Given the description of an element on the screen output the (x, y) to click on. 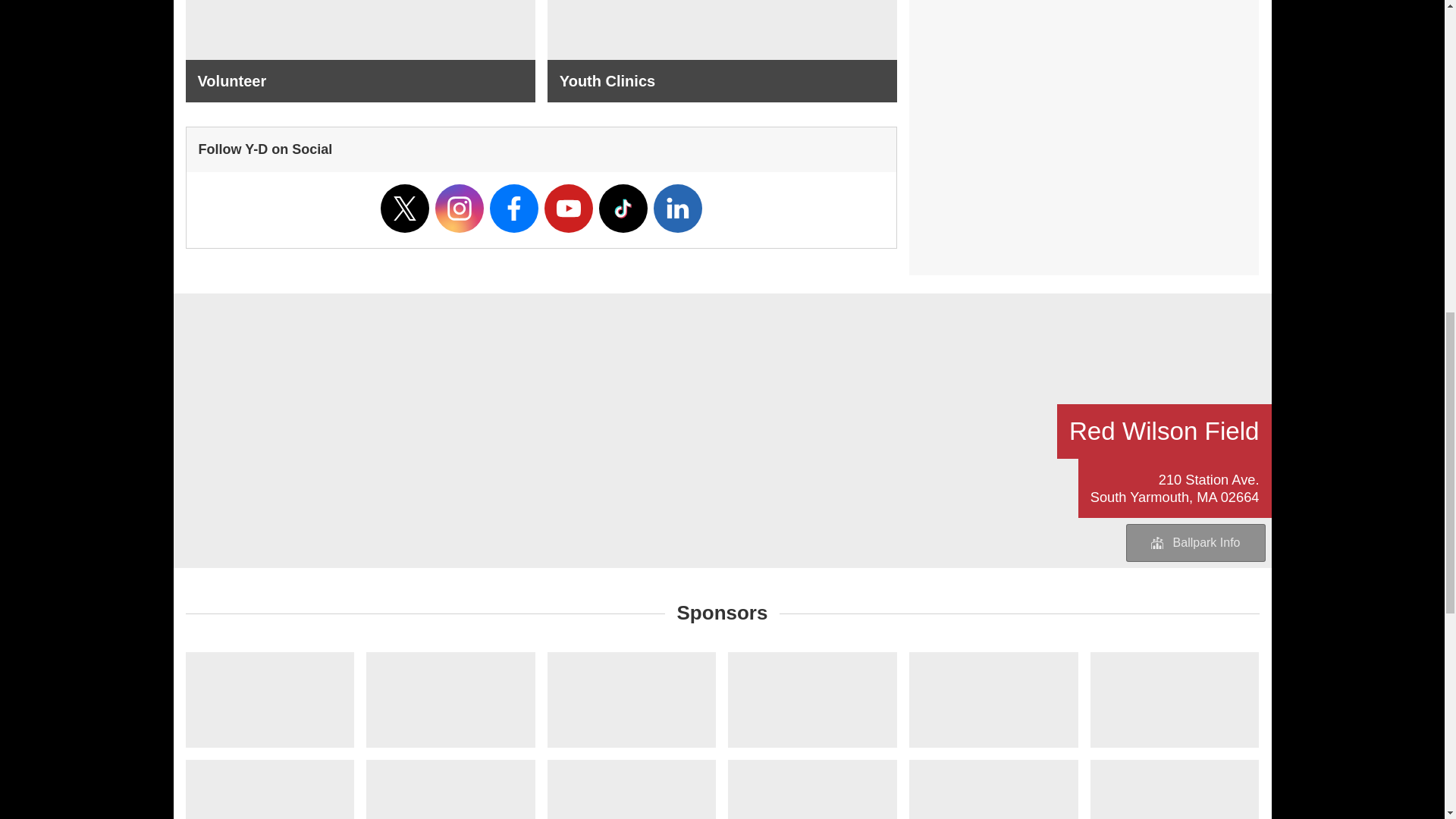
youtube-169050 (568, 208)
tiktok-169051 (622, 208)
facebook-169049 (513, 208)
linkedin-169052 (677, 208)
instagram-169048 (458, 208)
x-169047 (404, 208)
ballpark-169053 (1157, 542)
